Given the description of an element on the screen output the (x, y) to click on. 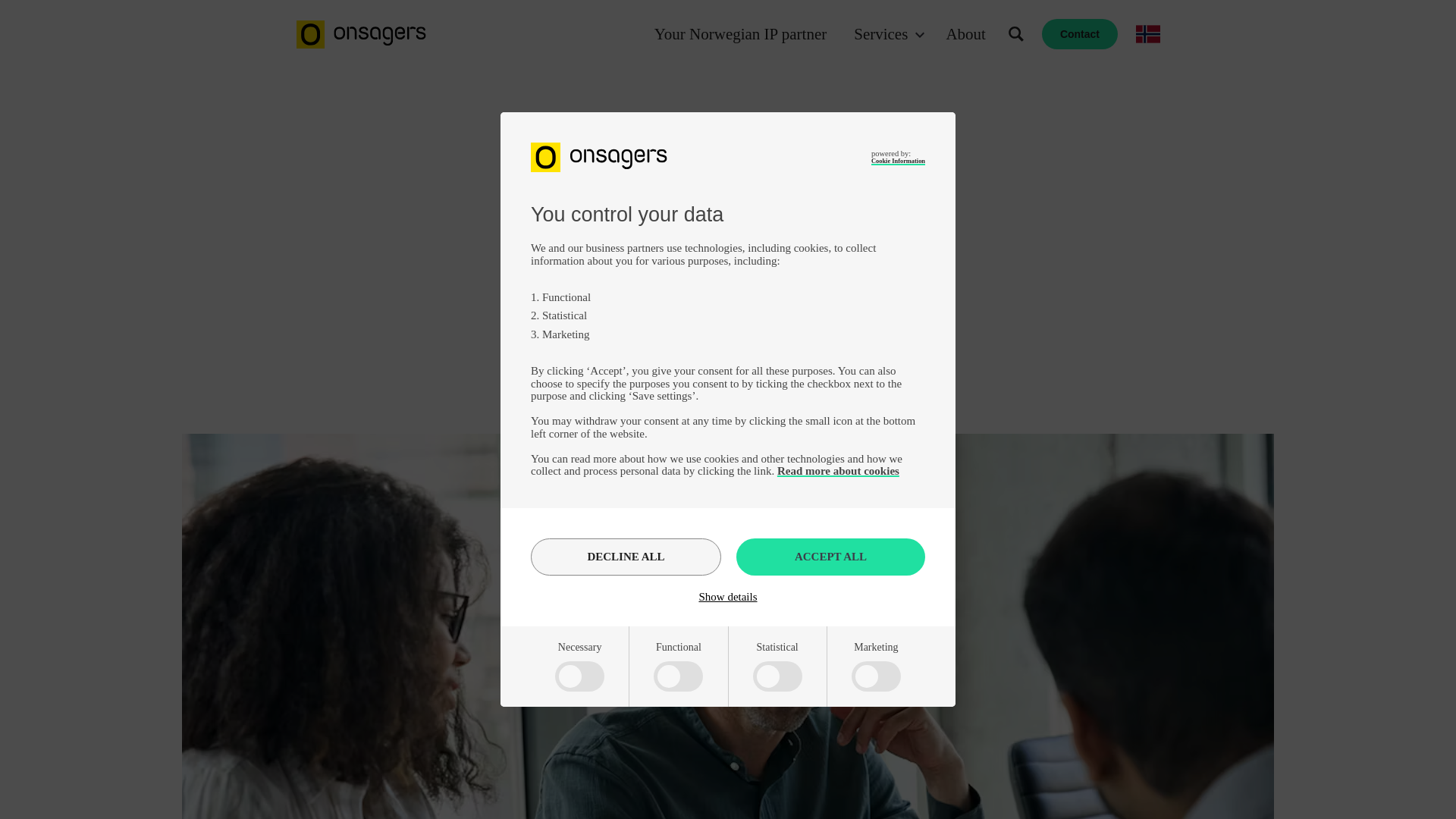
ACCEPT ALL (830, 556)
Show details (727, 596)
Cookie Information (897, 161)
Read more about cookies (838, 470)
DECLINE ALL (625, 556)
